Given the description of an element on the screen output the (x, y) to click on. 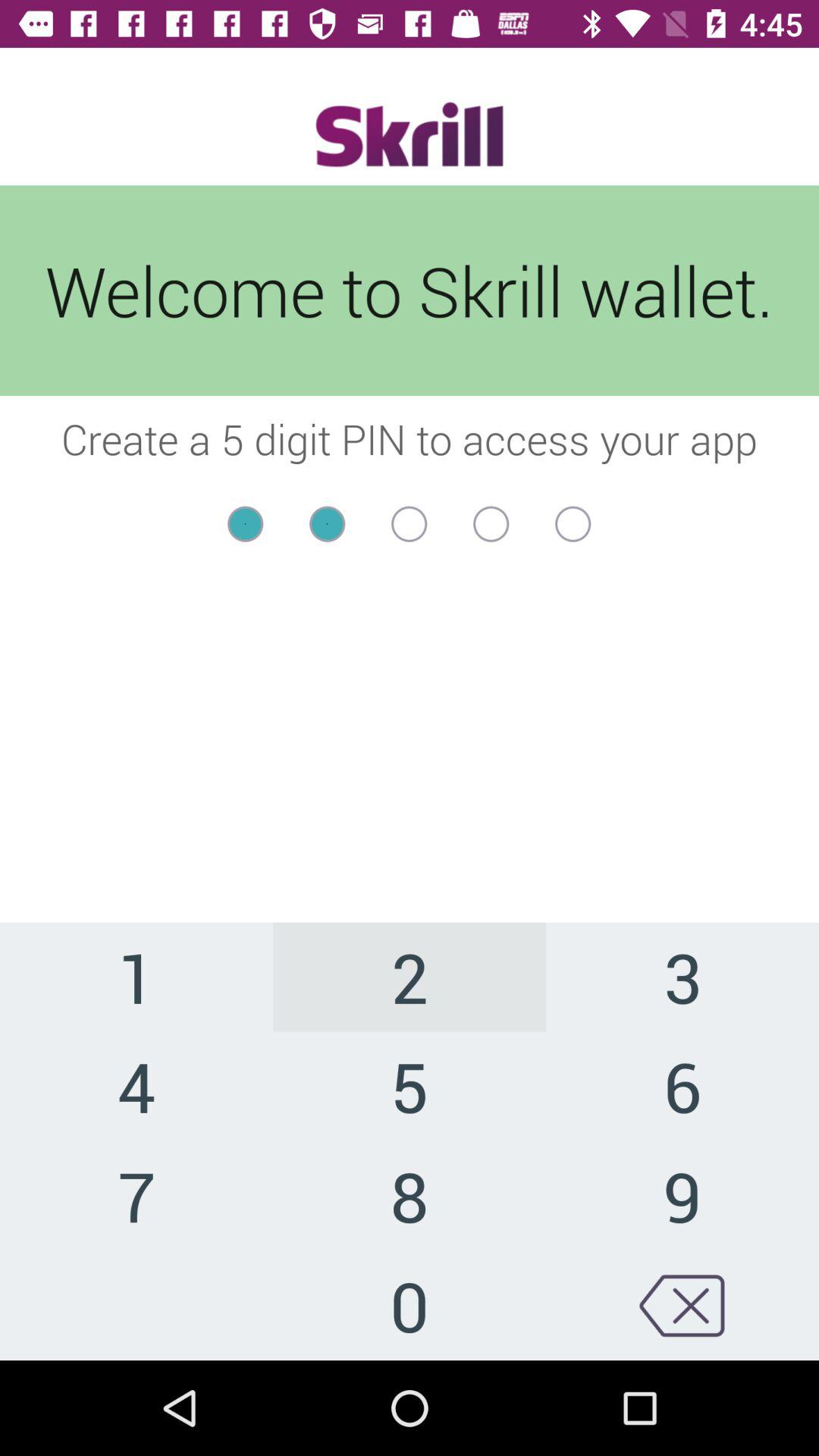
turn on the 6 (682, 1085)
